Given the description of an element on the screen output the (x, y) to click on. 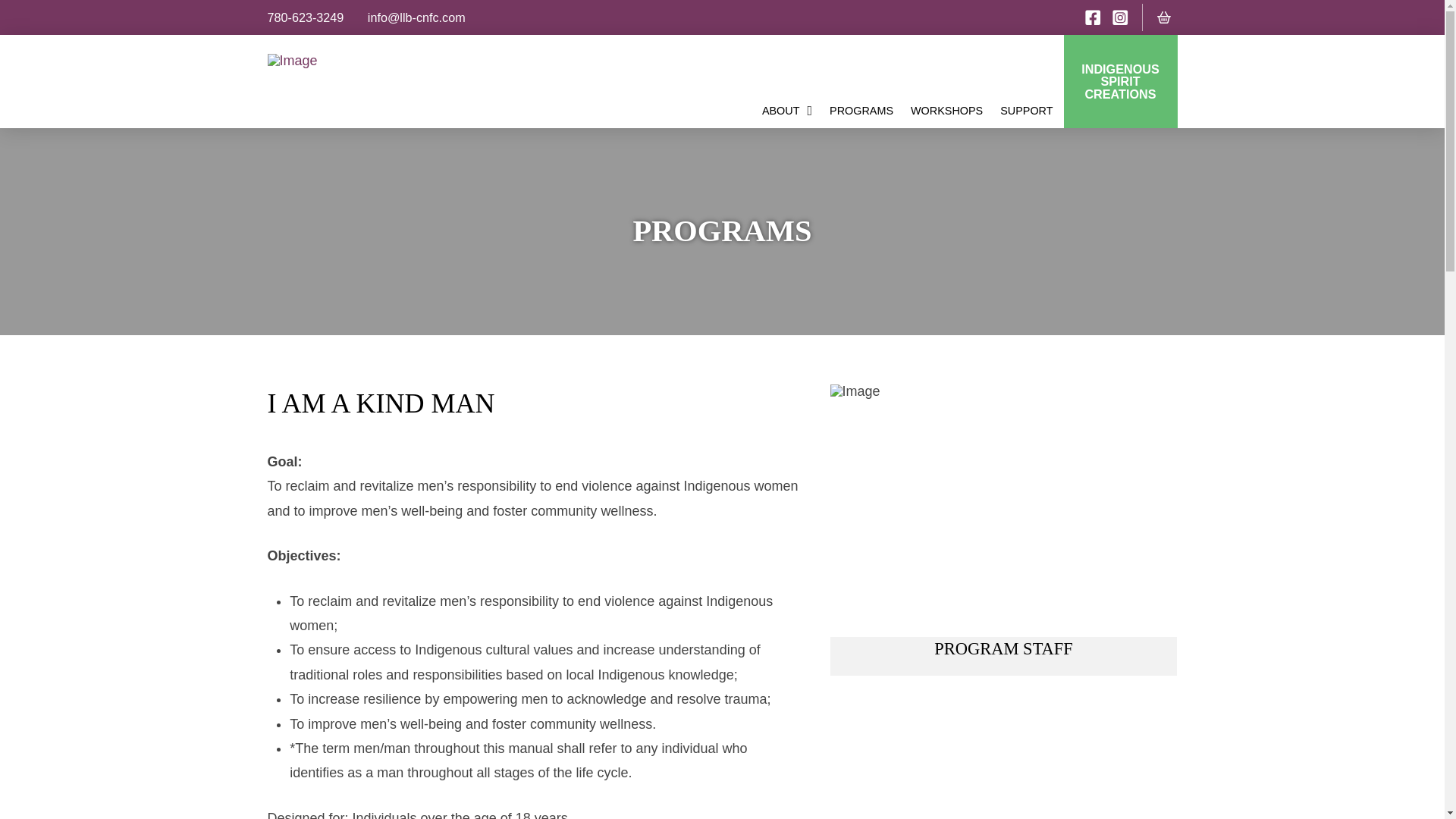
SUPPORT (1027, 110)
INDIGENOUS SPIRIT CREATIONS (1119, 81)
ABOUT (788, 110)
780-623-3249 (304, 17)
PROGRAMS (863, 110)
WORKSHOPS (948, 110)
